Given the description of an element on the screen output the (x, y) to click on. 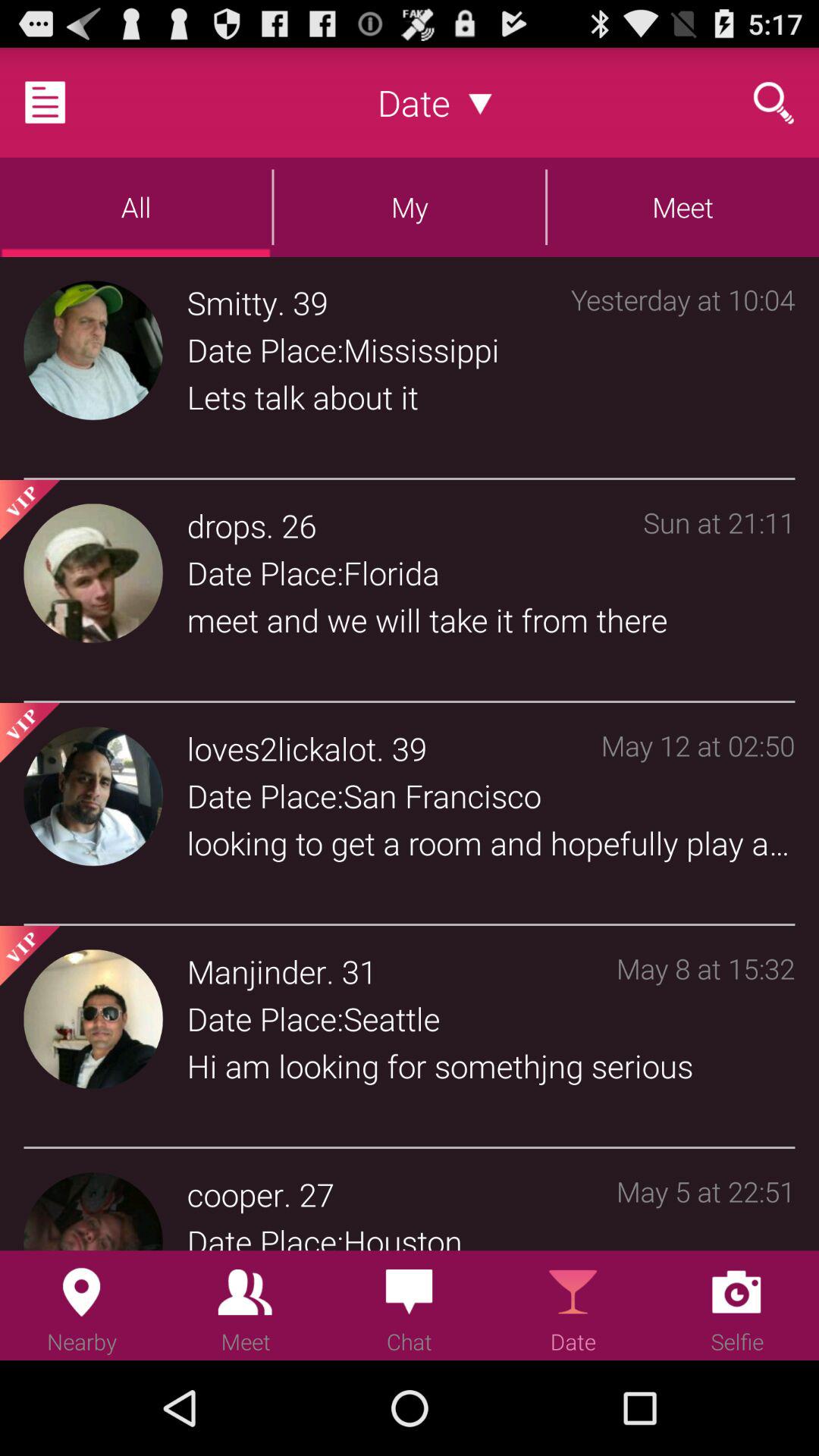
tap the item to the left of .  icon (235, 1193)
